Given the description of an element on the screen output the (x, y) to click on. 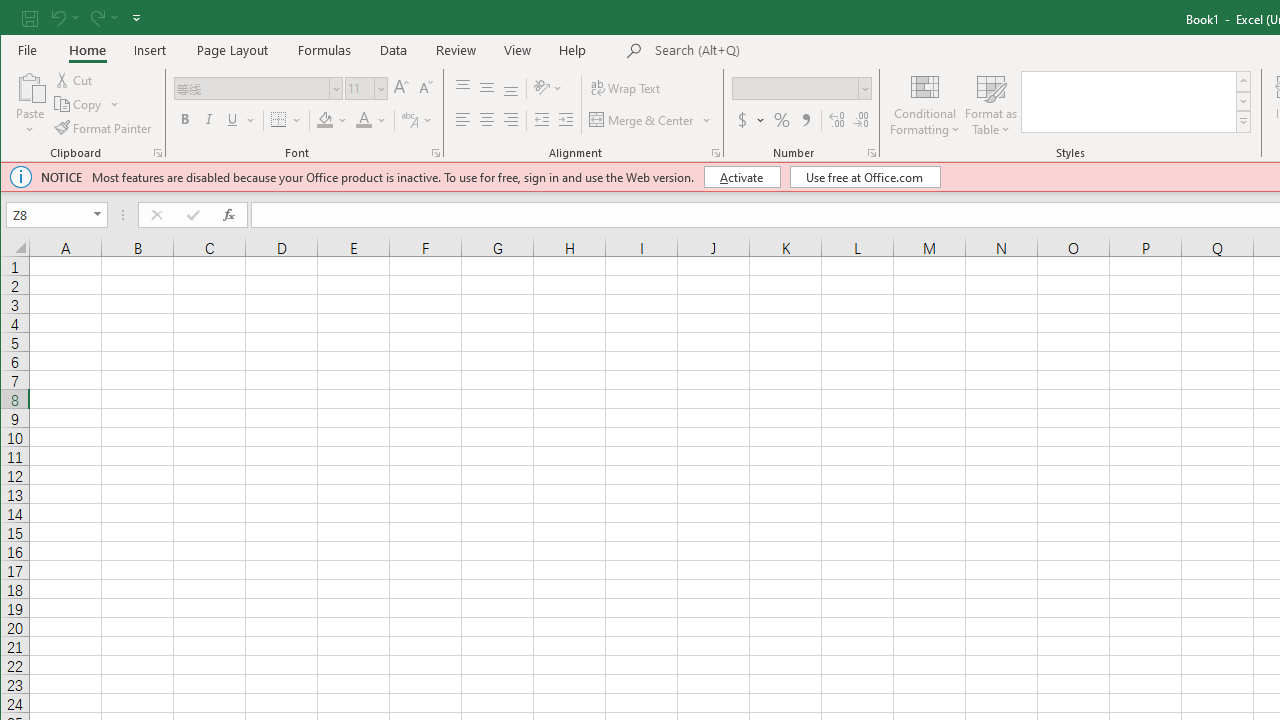
Percent Style (781, 119)
Cut (74, 80)
Format as Table (991, 104)
Accounting Number Format (750, 119)
Decrease Decimal (860, 119)
Merge & Center (643, 119)
Format Cell Font (435, 152)
Copy (87, 103)
